Given the description of an element on the screen output the (x, y) to click on. 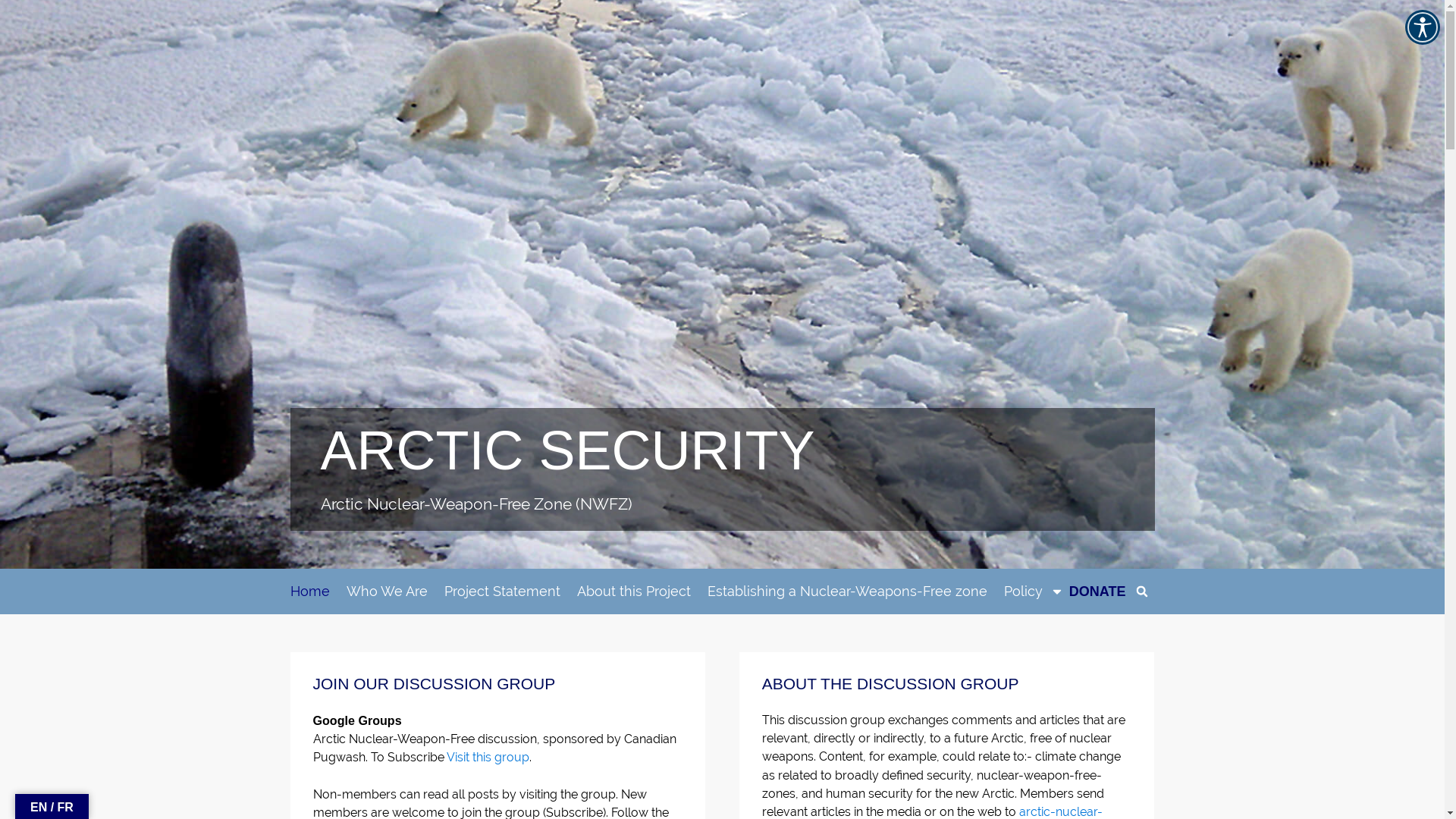
Home Element type: text (309, 591)
DONATE Element type: text (1097, 591)
Policy Element type: text (1033, 591)
Establishing a Nuclear-Weapons-Free zone Element type: text (846, 591)
About this Project Element type: text (633, 591)
Who We Are Element type: text (385, 591)
Project Statement Element type: text (502, 591)
Visit this group Element type: text (486, 756)
